Given the description of an element on the screen output the (x, y) to click on. 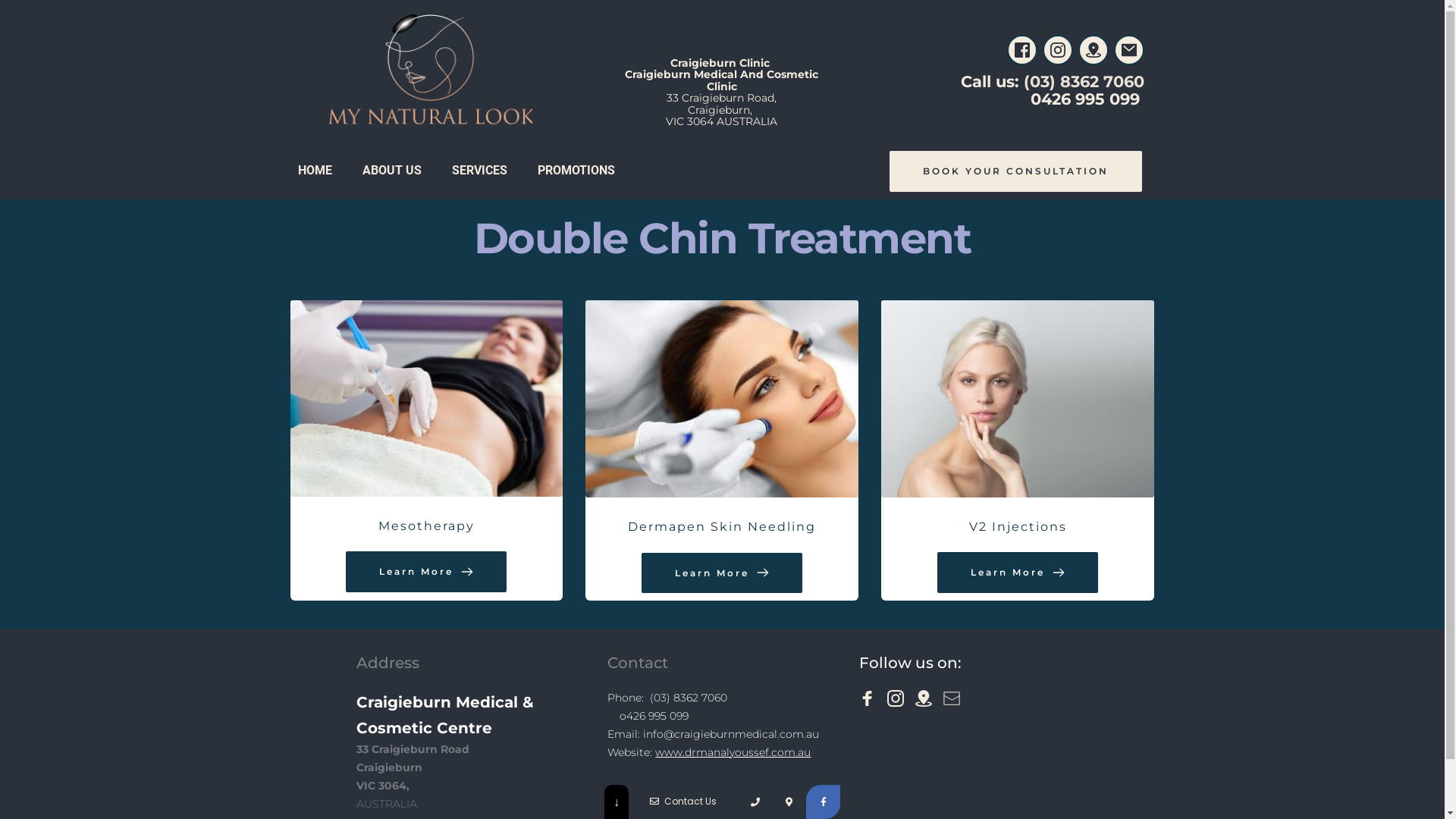
ABOUT US Element type: text (391, 170)
PROMOTIONS Element type: text (575, 170)
Learn More Element type: text (425, 571)
HOME Element type: text (314, 170)
Learn More Element type: text (721, 572)
SERVICES Element type: text (479, 170)
Phone Element type: text (722, 798)
Submit Element type: text (722, 798)
Learn More Element type: text (1017, 572)
www.drmanalyoussef.com.au Element type: text (732, 752)
BOOK YOUR CONSULTATION Element type: text (1015, 170)
